Given the description of an element on the screen output the (x, y) to click on. 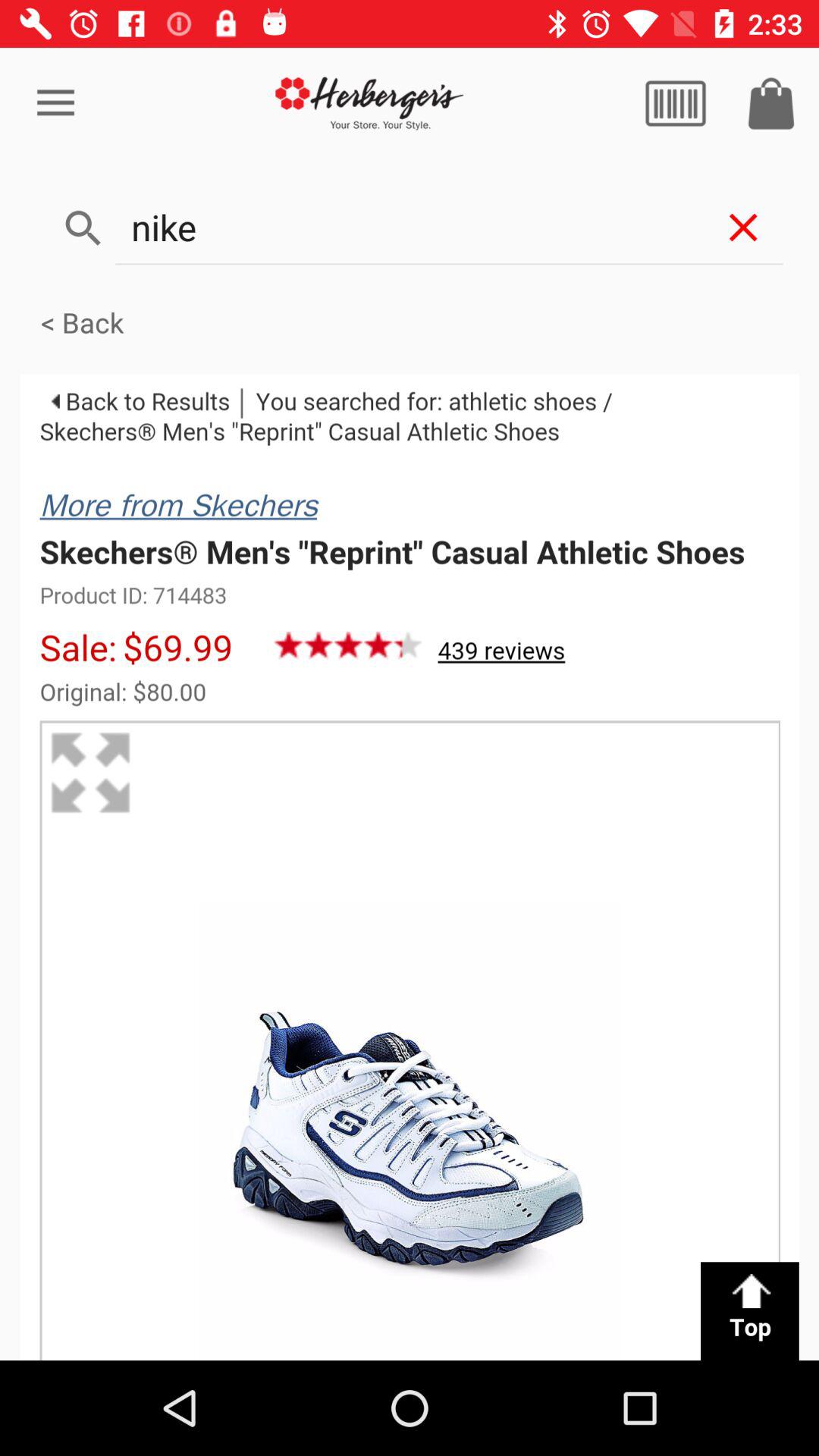
select product (409, 867)
